Given the description of an element on the screen output the (x, y) to click on. 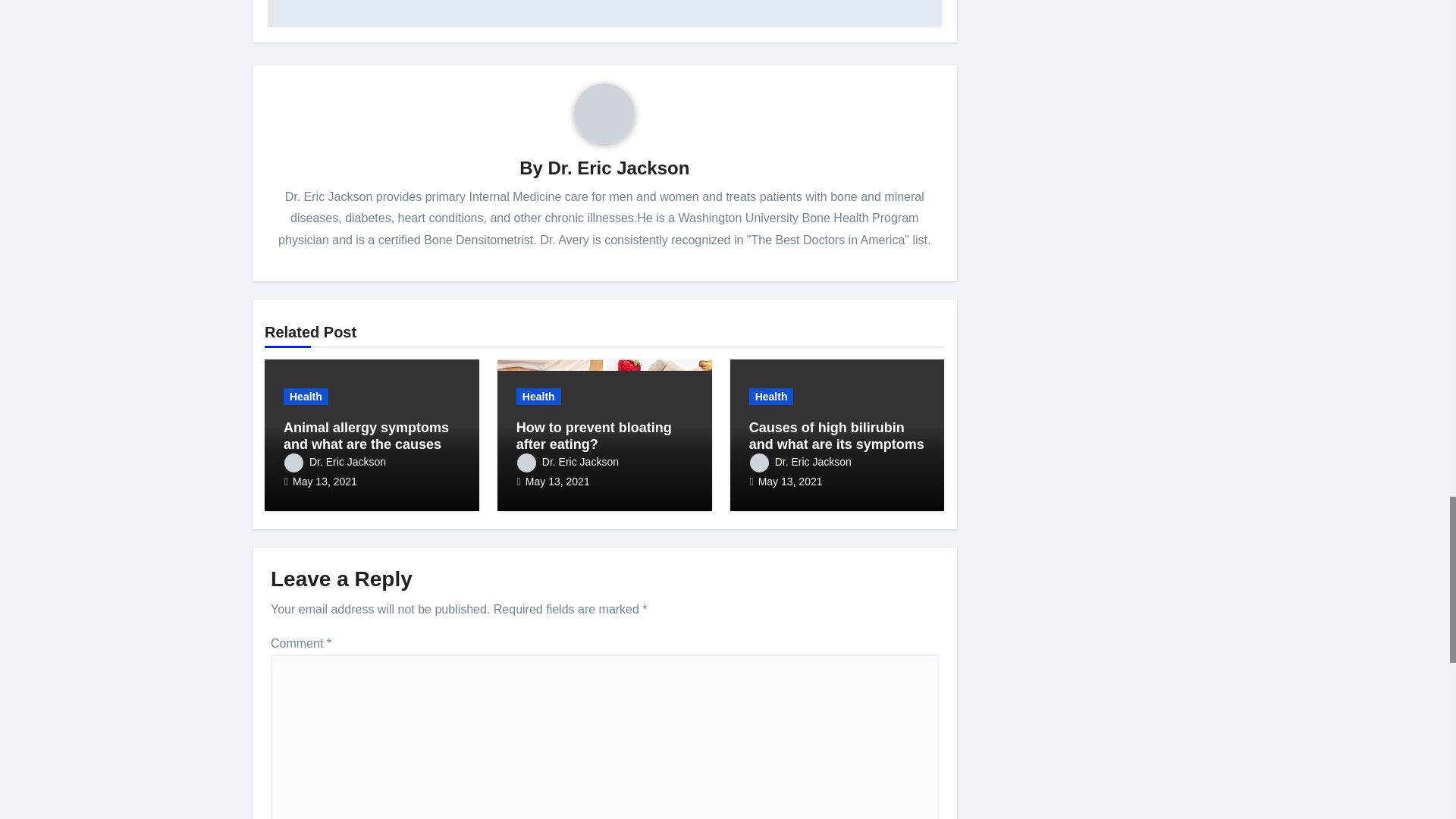
Permalink to: How to prevent bloating after eating? (593, 436)
